Given the description of an element on the screen output the (x, y) to click on. 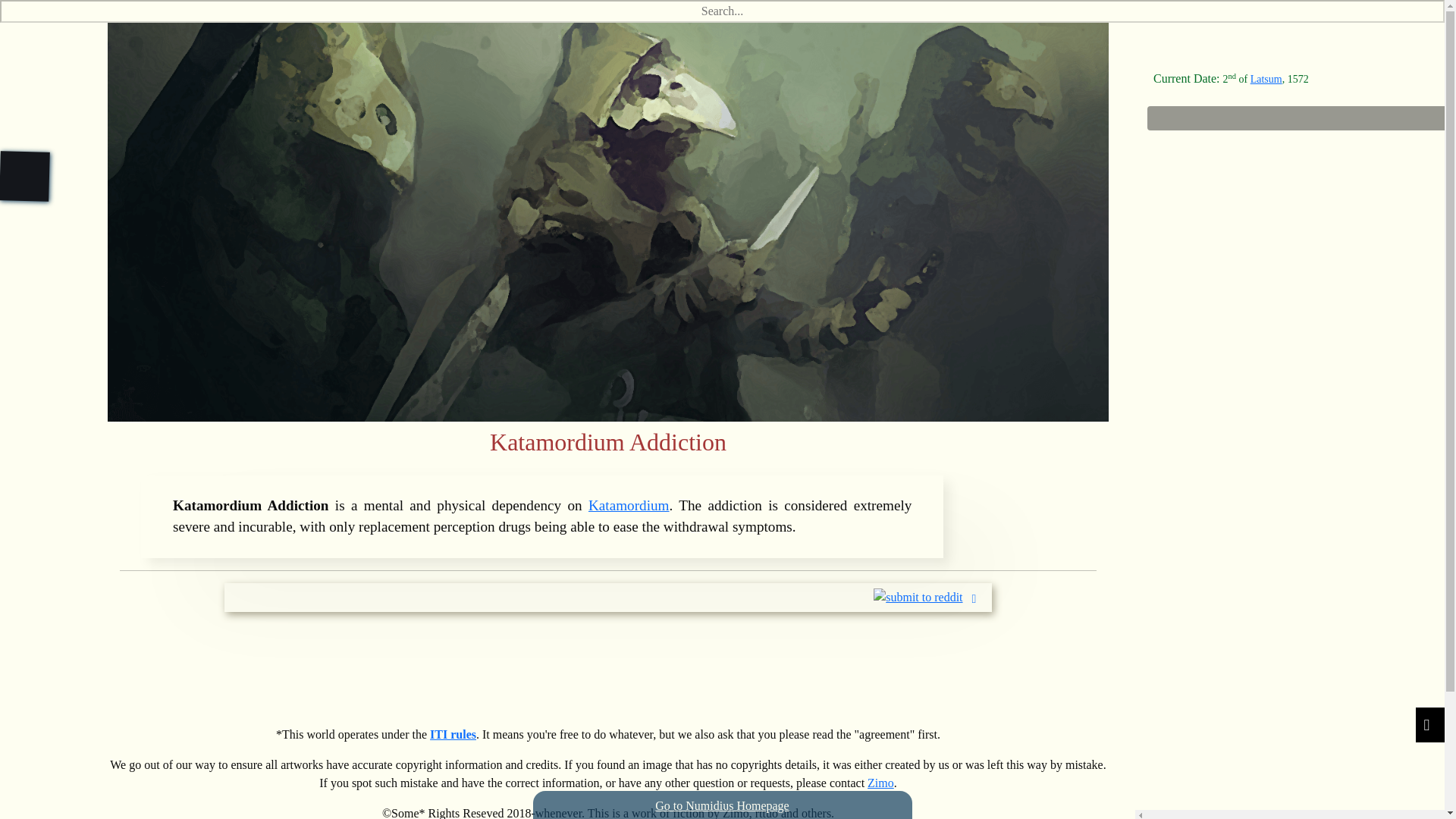
Katamordium (628, 505)
Go to Numidius Homepage (721, 805)
Latsum (1266, 79)
Join Numidius Discord! (607, 657)
ITI rules (452, 734)
Zimo (880, 782)
